Given the description of an element on the screen output the (x, y) to click on. 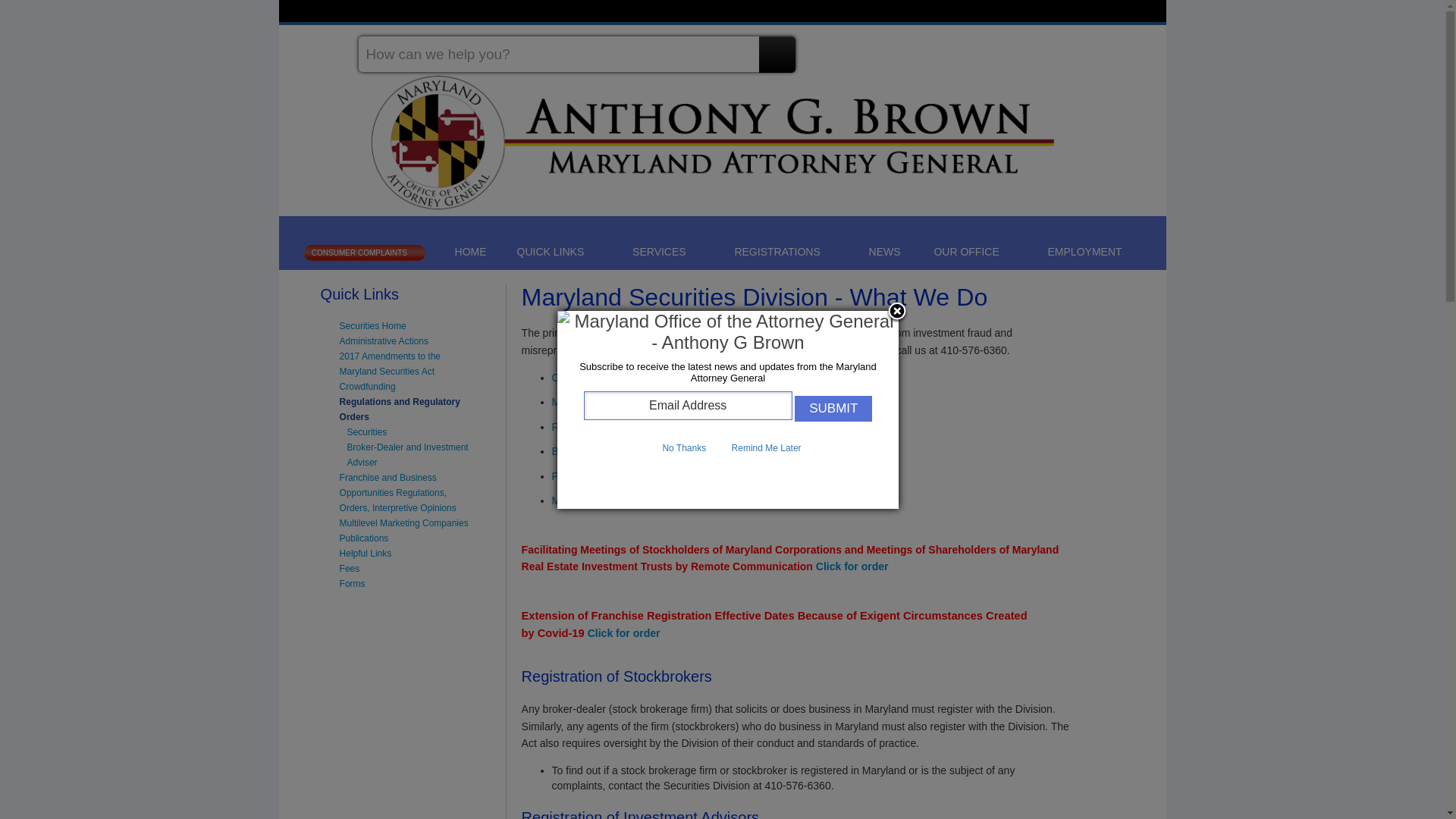
Instagram (1085, 48)
Flickr (1141, 48)
Email Address (687, 436)
YouTube (1114, 48)
Facebook (1029, 48)
Twitter (1058, 48)
How can we help you? (576, 54)
Instagram (1085, 48)
How can we help you? (576, 54)
QUICK LINKS (558, 251)
Flickr (1141, 48)
Submit (833, 438)
HOME (470, 251)
Facebook (1029, 48)
Twitter (1058, 48)
